Given the description of an element on the screen output the (x, y) to click on. 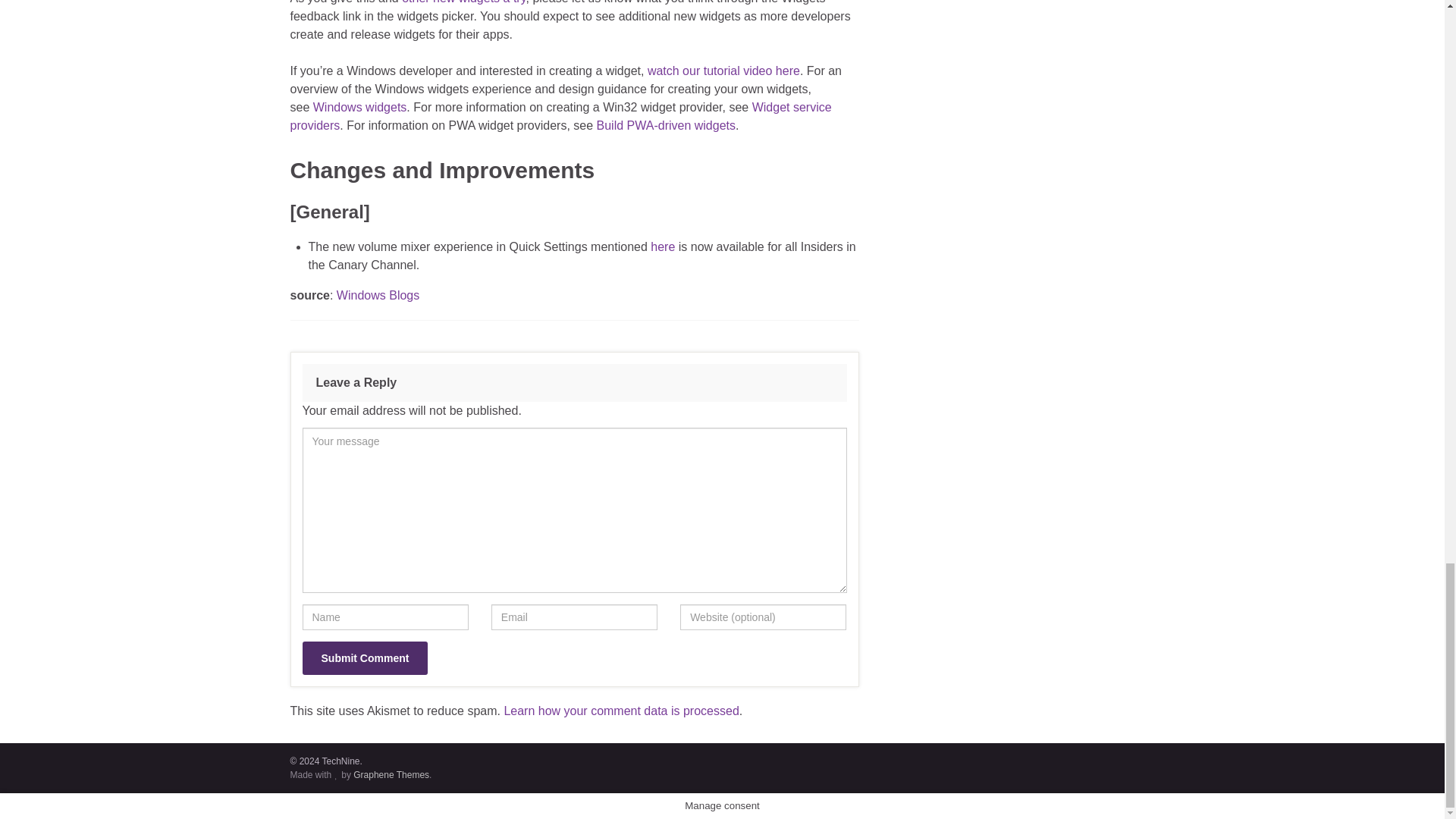
Learn how your comment data is processed (620, 710)
Submit Comment (364, 657)
Windows Blogs (377, 295)
Build PWA-driven widgets (665, 124)
here (662, 246)
other new widgets a try (463, 2)
Submit Comment (364, 657)
watch our tutorial video here (723, 70)
Widget service providers (560, 115)
Windows widgets (360, 106)
